Given the description of an element on the screen output the (x, y) to click on. 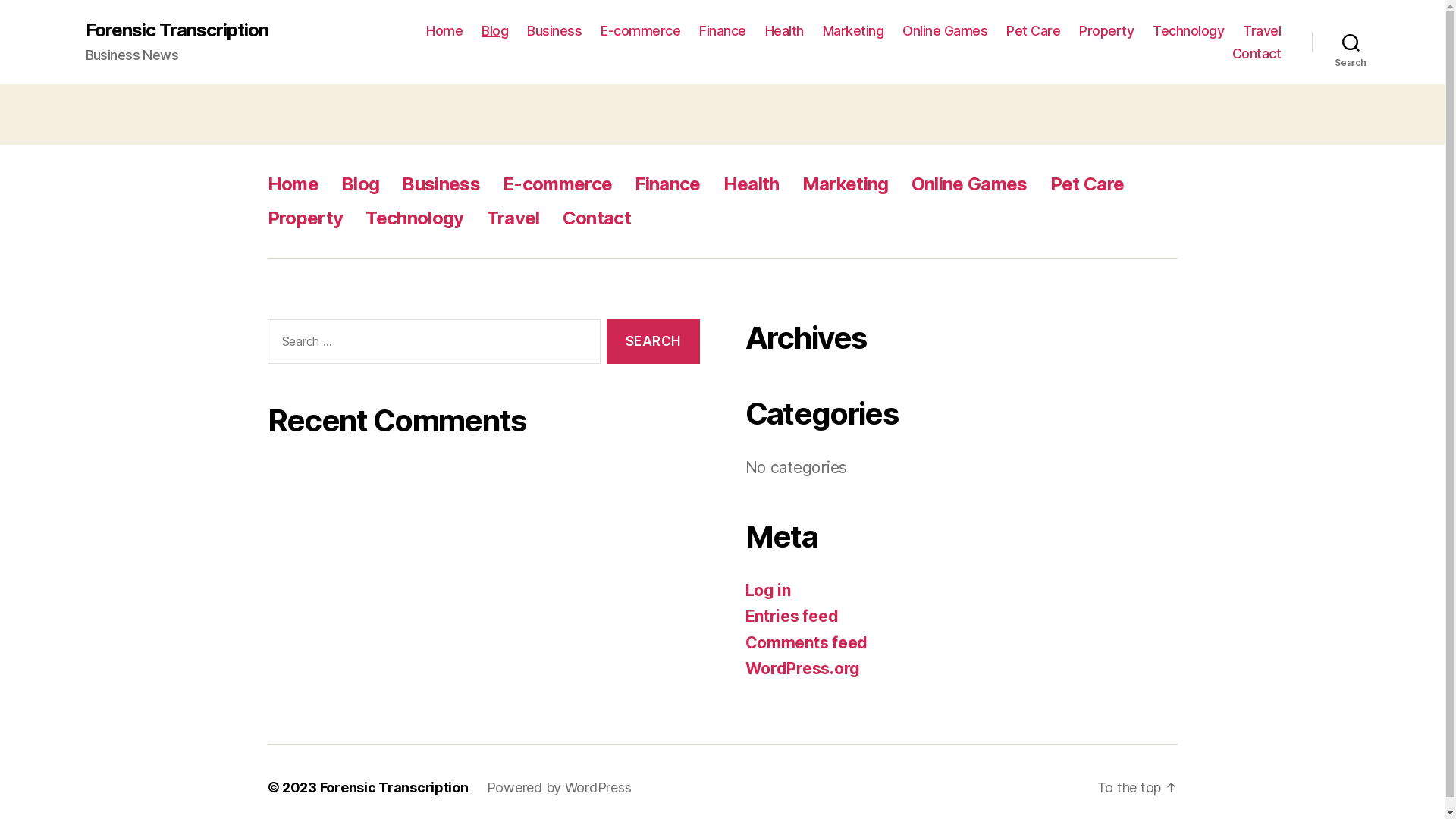
Business Element type: text (440, 183)
Technology Element type: text (1187, 30)
Search Element type: text (652, 341)
Health Element type: text (784, 30)
Blog Element type: text (494, 30)
Powered by WordPress Element type: text (558, 787)
Health Element type: text (751, 183)
Forensic Transcription Element type: text (175, 30)
Marketing Element type: text (853, 30)
Technology Element type: text (414, 218)
Pet Care Element type: text (1087, 183)
Property Element type: text (304, 218)
E-commerce Element type: text (640, 30)
Entries feed Element type: text (790, 615)
Online Games Element type: text (969, 183)
E-commerce Element type: text (556, 183)
Property Element type: text (1106, 30)
Home Element type: text (444, 30)
WordPress.org Element type: text (801, 667)
Log in Element type: text (767, 589)
Finance Element type: text (722, 30)
Blog Element type: text (360, 183)
Online Games Element type: text (944, 30)
Travel Element type: text (1261, 30)
Finance Element type: text (666, 183)
Pet Care Element type: text (1033, 30)
Contact Element type: text (1256, 53)
Search Element type: text (1350, 42)
Comments feed Element type: text (805, 641)
Travel Element type: text (512, 218)
Forensic Transcription Element type: text (394, 787)
Home Element type: text (291, 183)
Marketing Element type: text (845, 183)
Contact Element type: text (596, 218)
Business Element type: text (554, 30)
